Given the description of an element on the screen output the (x, y) to click on. 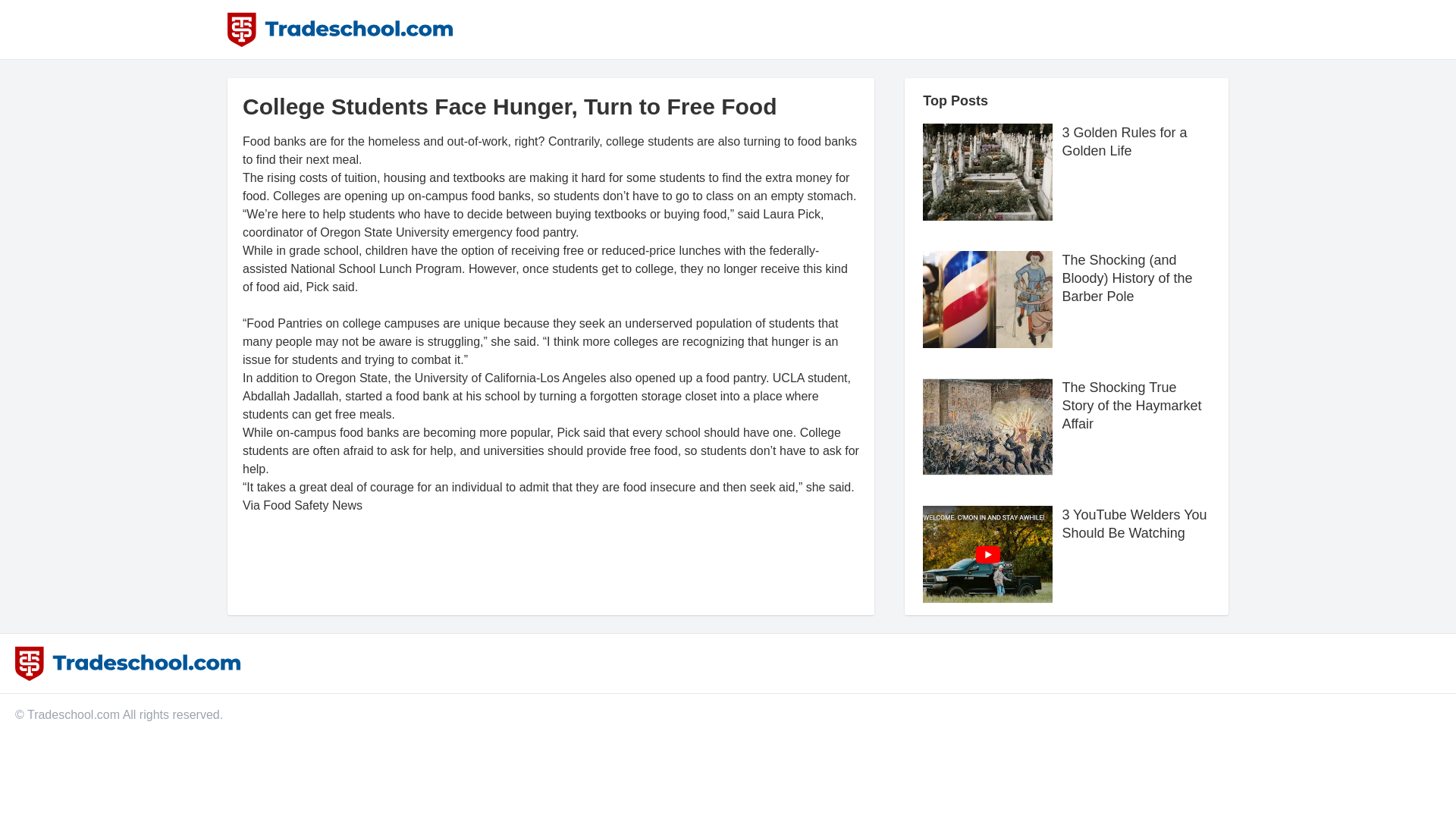
3 YouTube Welders You Should Be Watching (1135, 554)
3 Golden Rules for a Golden Life (1135, 171)
The Shocking True Story of the Haymarket Affair (1135, 426)
